Given the description of an element on the screen output the (x, y) to click on. 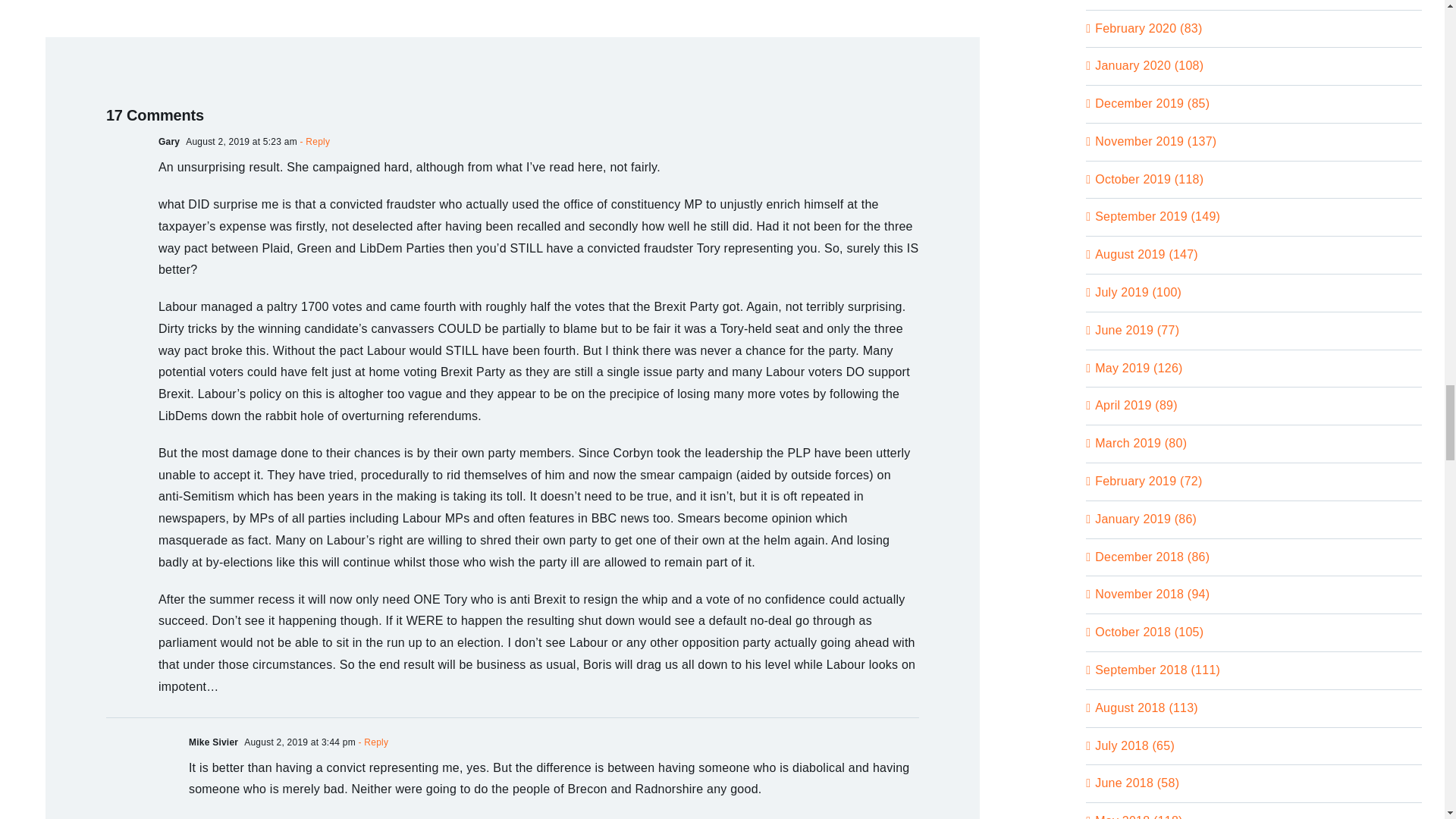
- Reply (371, 742)
- Reply (313, 141)
